Given the description of an element on the screen output the (x, y) to click on. 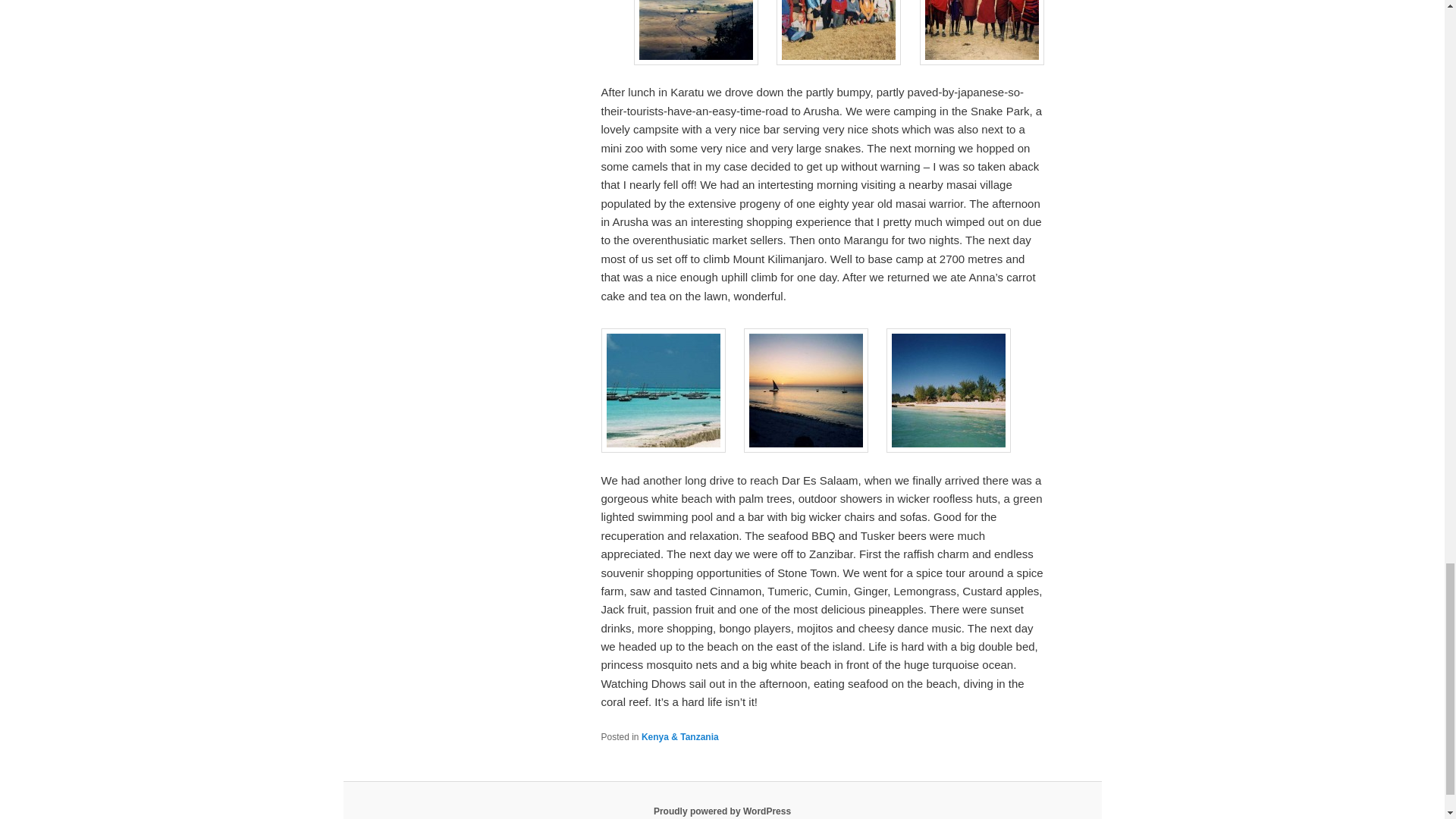
zansunset (805, 390)
groupcrater (838, 32)
warriors (980, 32)
beach1 (948, 390)
craterview1 (695, 32)
zanzibar (662, 390)
Semantic Personal Publishing Platform (721, 810)
